Given the description of an element on the screen output the (x, y) to click on. 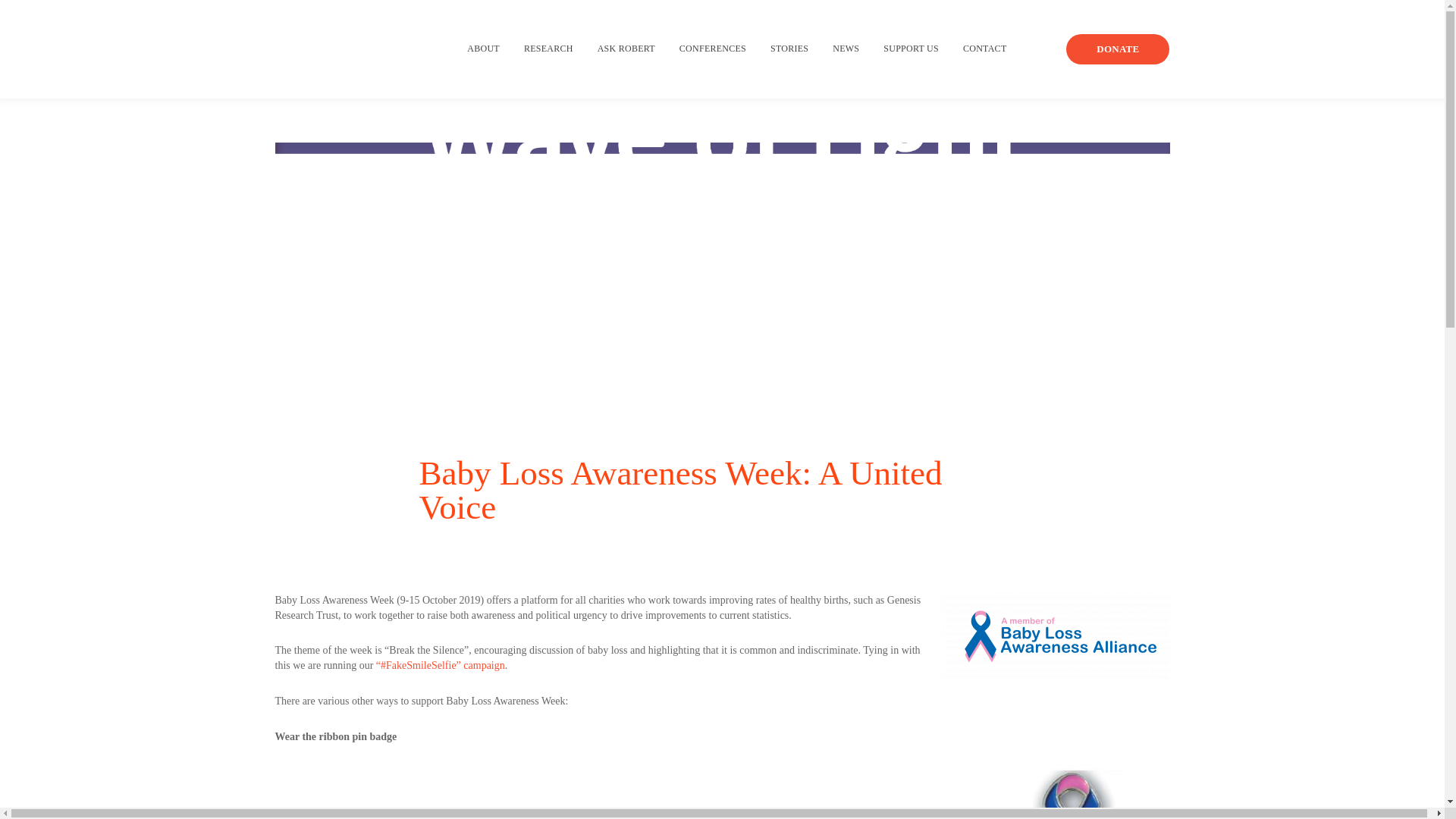
DONATE (1117, 49)
ABOUT (483, 49)
RESEARCH (548, 49)
ASK ROBERT (625, 49)
SUPPORT US (911, 49)
STORIES (789, 49)
CONTACT (984, 49)
CONFERENCES (712, 49)
NEWS (845, 49)
